Given the description of an element on the screen output the (x, y) to click on. 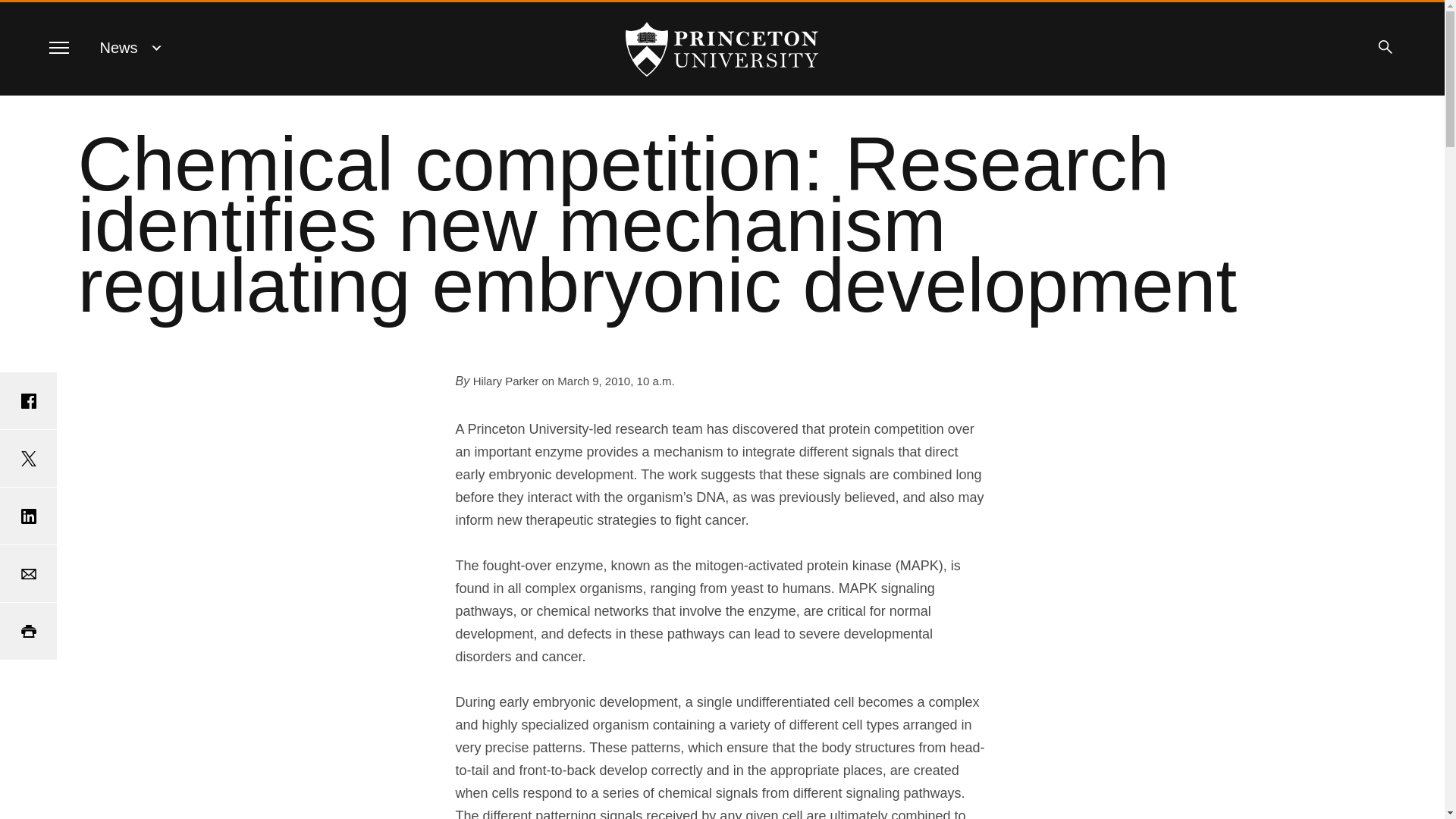
SKIP TO MAIN CONTENT (22, 13)
Share on Facebook (28, 400)
News (119, 47)
Menu (57, 47)
Home (722, 49)
Princeton University (722, 49)
Share on Twitter (28, 457)
Print (28, 631)
Email (28, 573)
Search (1384, 47)
Share on LinkedIn (28, 515)
